Given the description of an element on the screen output the (x, y) to click on. 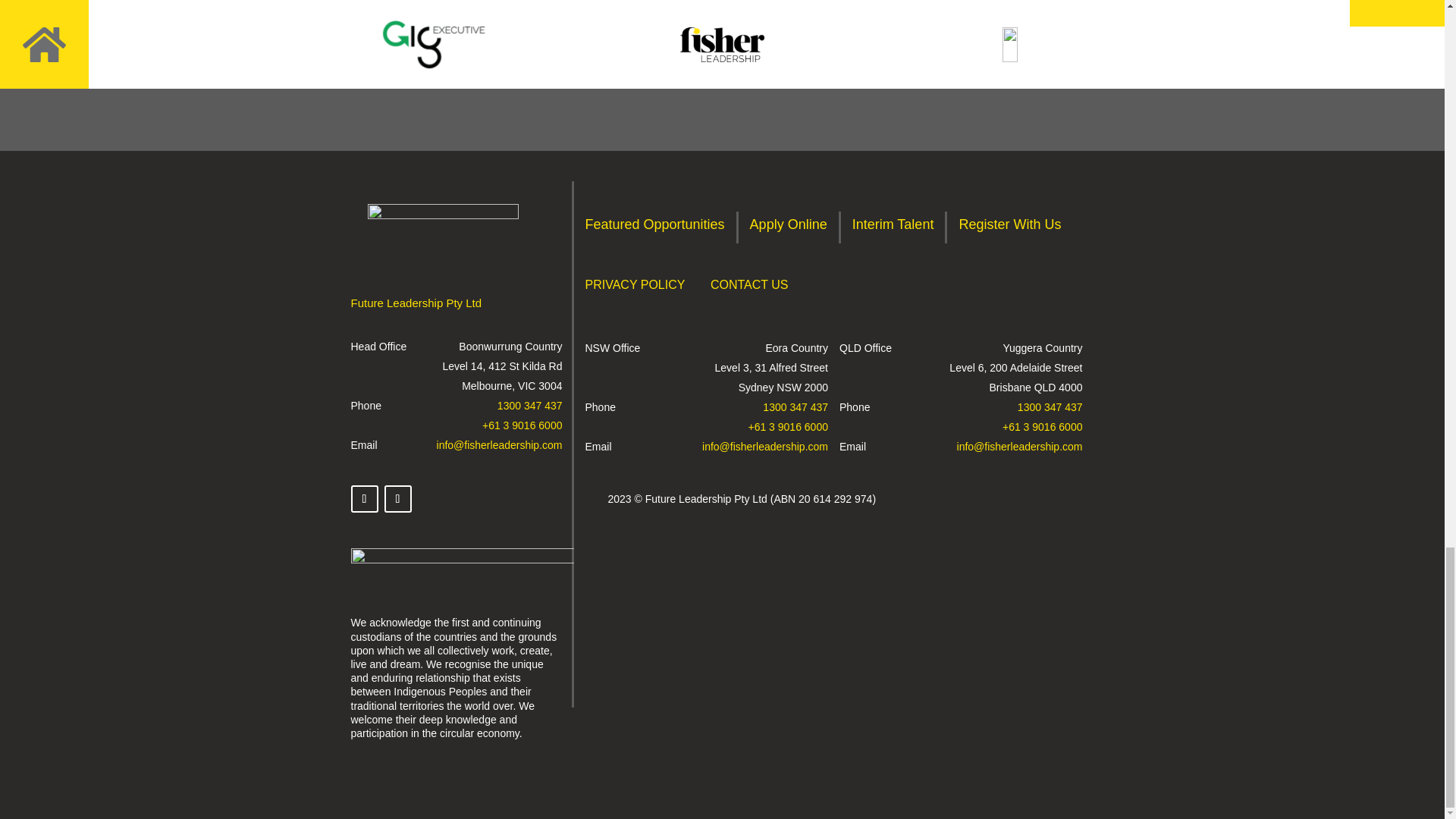
Interim Talent (892, 227)
Follow on X (363, 498)
1300 347 437 (529, 405)
foot-logo (443, 234)
Untitled design-3 (461, 575)
Follow on LinkedIn (397, 498)
Apply Online (788, 227)
Featured Opportunities (655, 227)
